Given the description of an element on the screen output the (x, y) to click on. 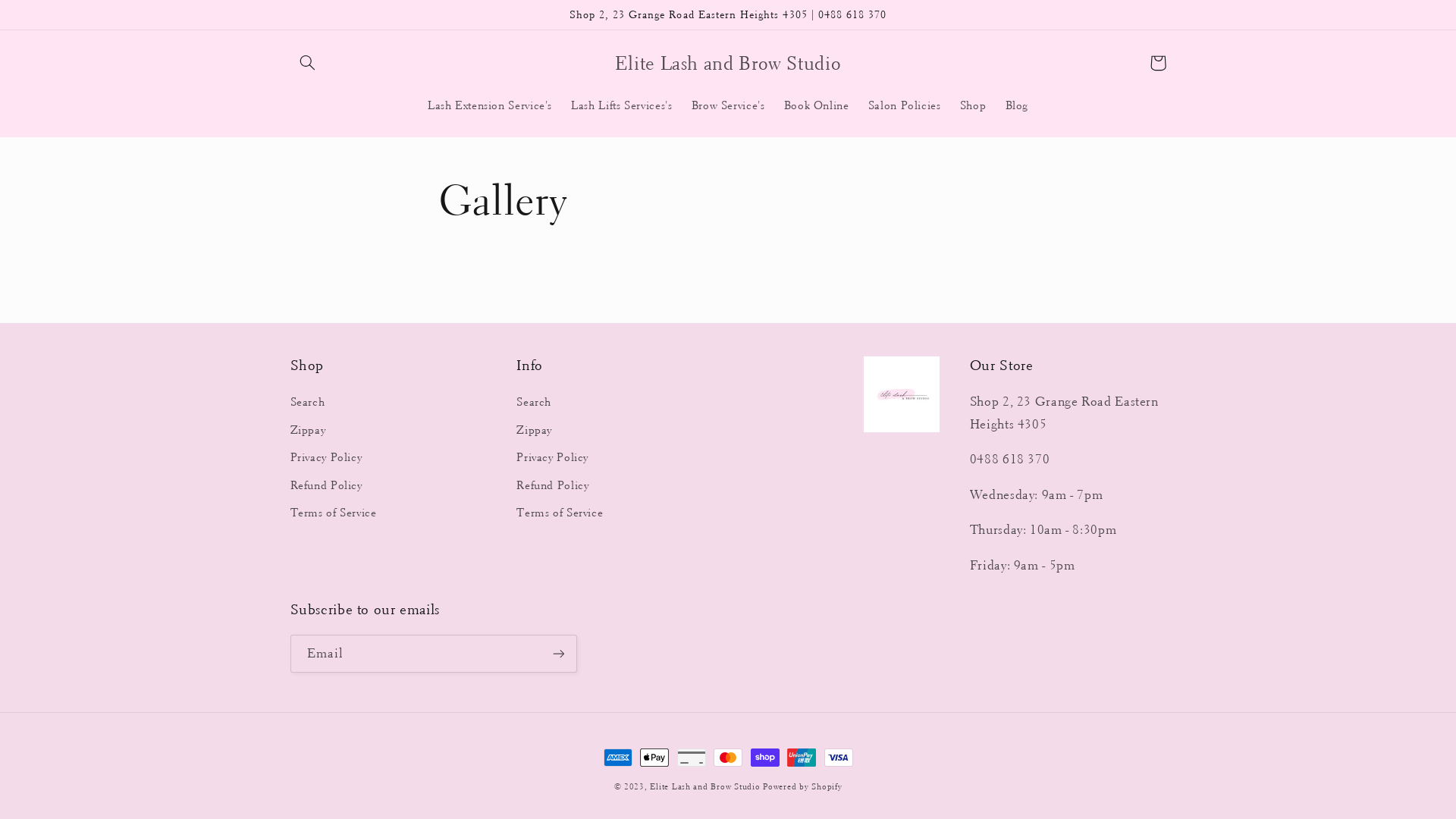
Search Element type: text (533, 404)
Salon Policies Element type: text (904, 105)
Terms of Service Element type: text (332, 513)
Refund Policy Element type: text (552, 484)
Cart Element type: text (1157, 62)
Zippay Element type: text (307, 430)
Terms of Service Element type: text (559, 513)
Brow Service's Element type: text (727, 105)
Shop Element type: text (972, 105)
Search Element type: text (306, 404)
Lash Extension Service's Element type: text (489, 105)
Powered by Shopify Element type: text (801, 786)
Elite Lash and Brow Studio Element type: text (727, 62)
Elite Lash and Brow Studio Element type: text (704, 786)
Blog Element type: text (1016, 105)
Lash Lifts Services's Element type: text (621, 105)
Book Online Element type: text (816, 105)
Zippay Element type: text (534, 430)
Refund Policy Element type: text (325, 484)
Privacy Policy Element type: text (325, 457)
Privacy Policy Element type: text (552, 457)
